Given the description of an element on the screen output the (x, y) to click on. 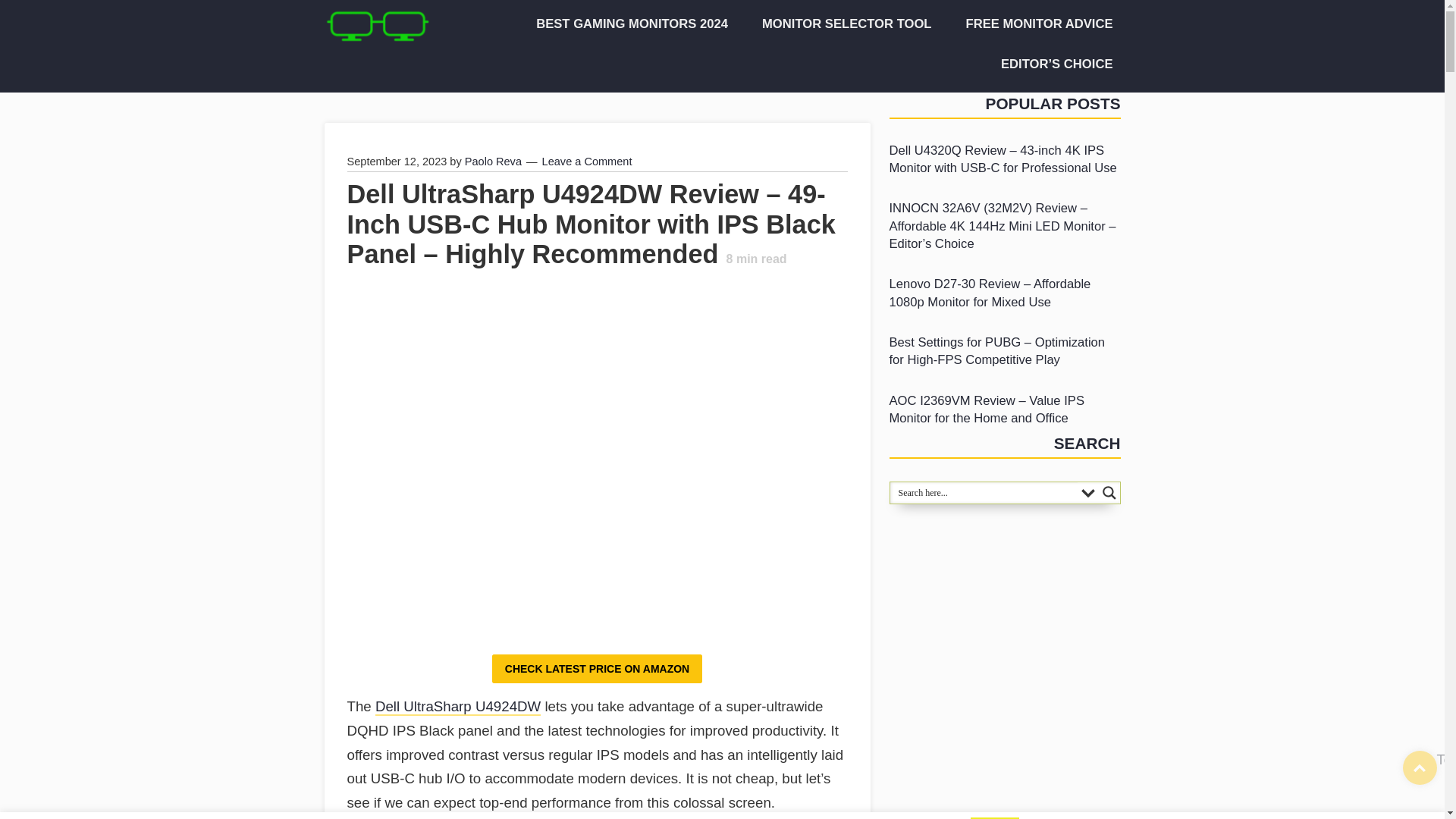
FREE MONITOR ADVICE (1033, 24)
Free Gaming Monitor Advice Service (1033, 24)
Back To Top (1420, 767)
Top (1420, 767)
BEST GAMING MONITORS 2024 (626, 24)
Dell UltraSharp U4924DW (457, 706)
Paolo Reva (492, 161)
CHECK LATEST PRICE ON AMAZON (596, 668)
Leave a Comment (586, 161)
